Given the description of an element on the screen output the (x, y) to click on. 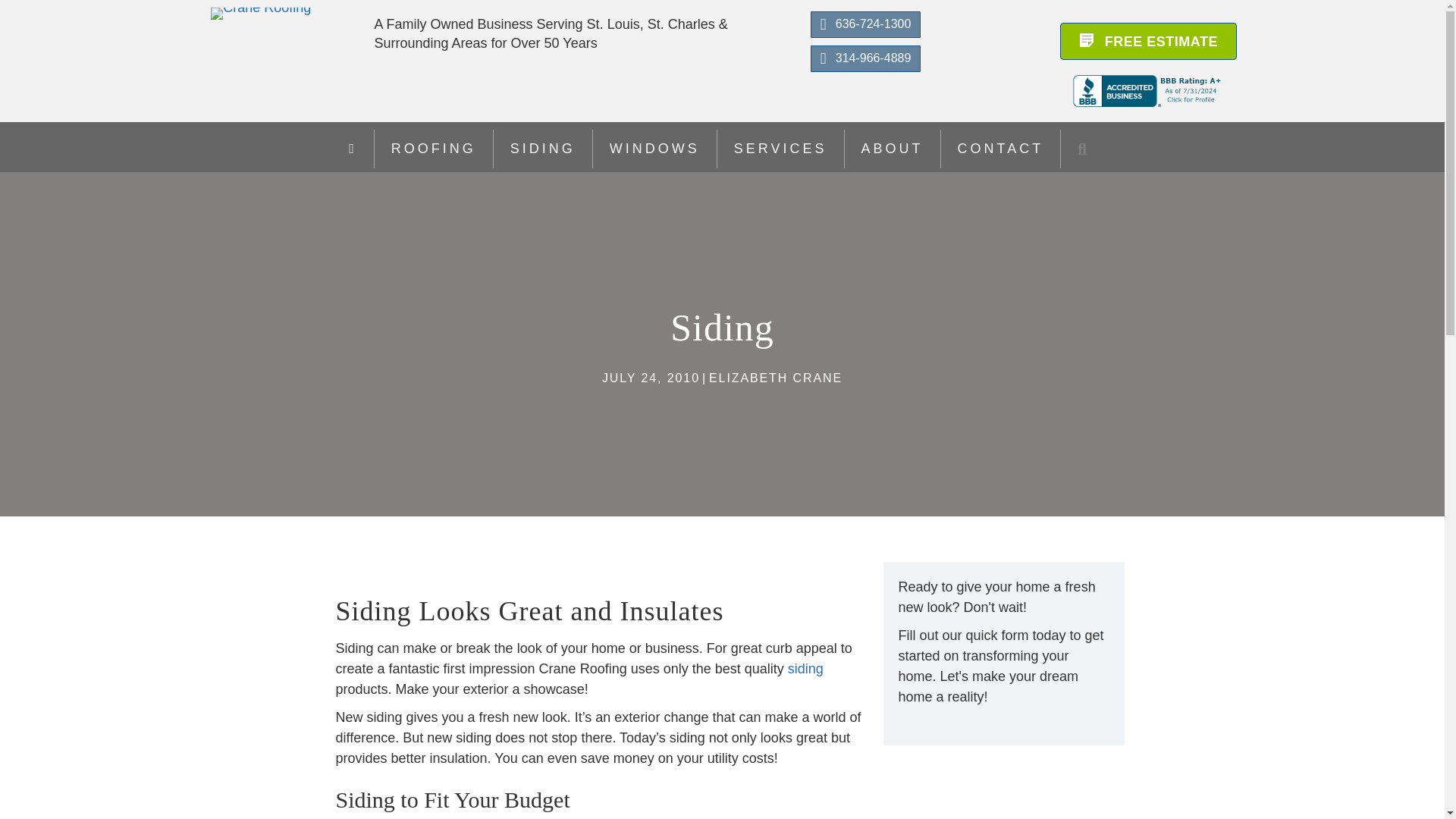
314-966-4889 (865, 58)
636-724-1300 (865, 24)
FREE ESTIMATE (1147, 40)
WINDOWS (654, 148)
SIDING (542, 148)
ABOUT (892, 148)
ROOFING (433, 148)
CONTACT (1000, 148)
SERVICES (780, 148)
SEARCH (1086, 148)
ELIZABETH CRANE (776, 377)
LOGO-NEW-Crane-Roofing-Logo-120 (261, 13)
siding (805, 668)
